Given the description of an element on the screen output the (x, y) to click on. 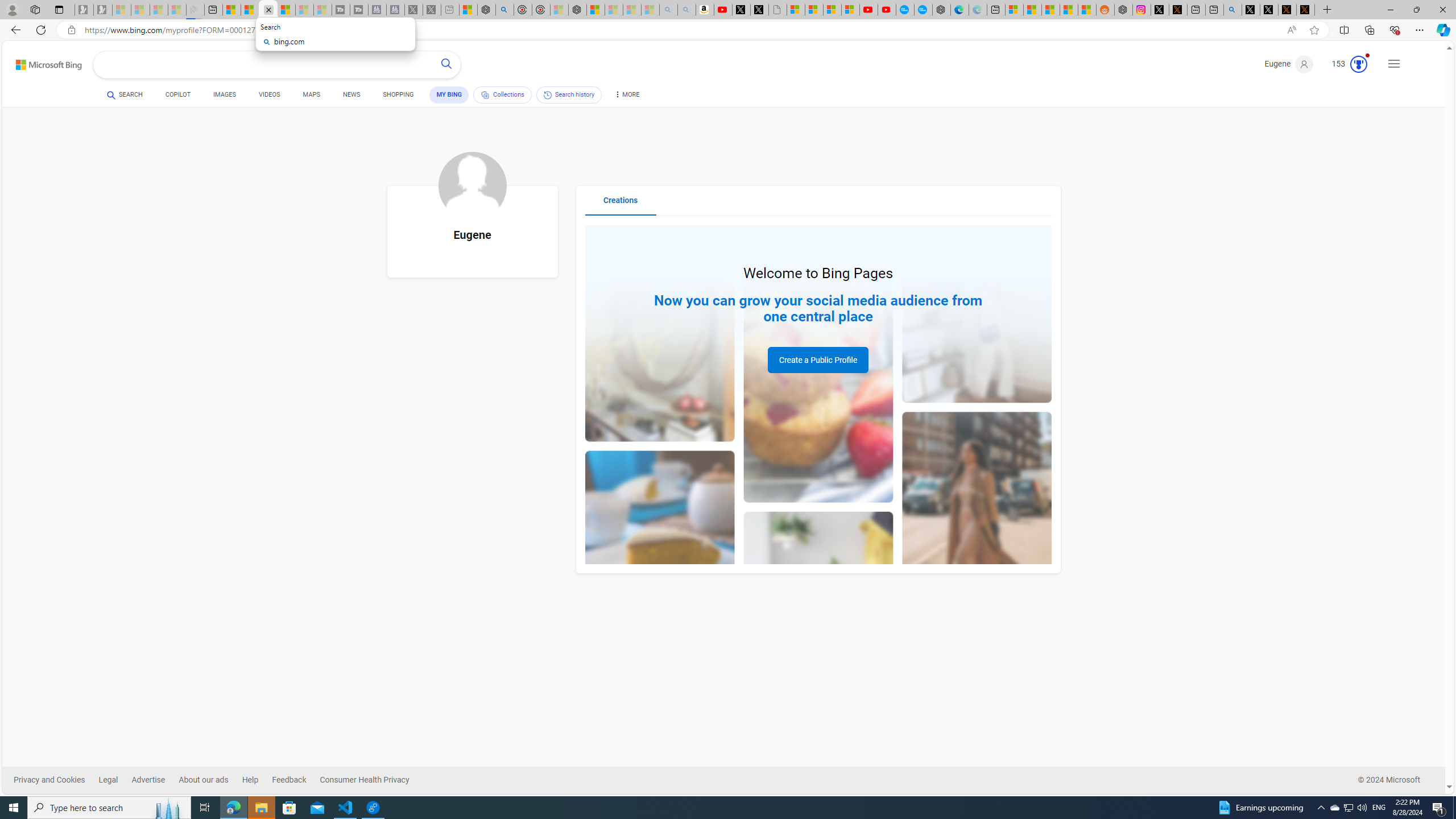
MY BING (448, 94)
poe - Search (504, 9)
SHOPPING (397, 94)
Eugene (1288, 63)
Back to Bing search (41, 61)
github - Search (1232, 9)
Nordace - Nordace Siena Is Not An Ordinary Backpack (577, 9)
Search button (446, 64)
Newsletter Sign Up - Sleeping (102, 9)
